Given the description of an element on the screen output the (x, y) to click on. 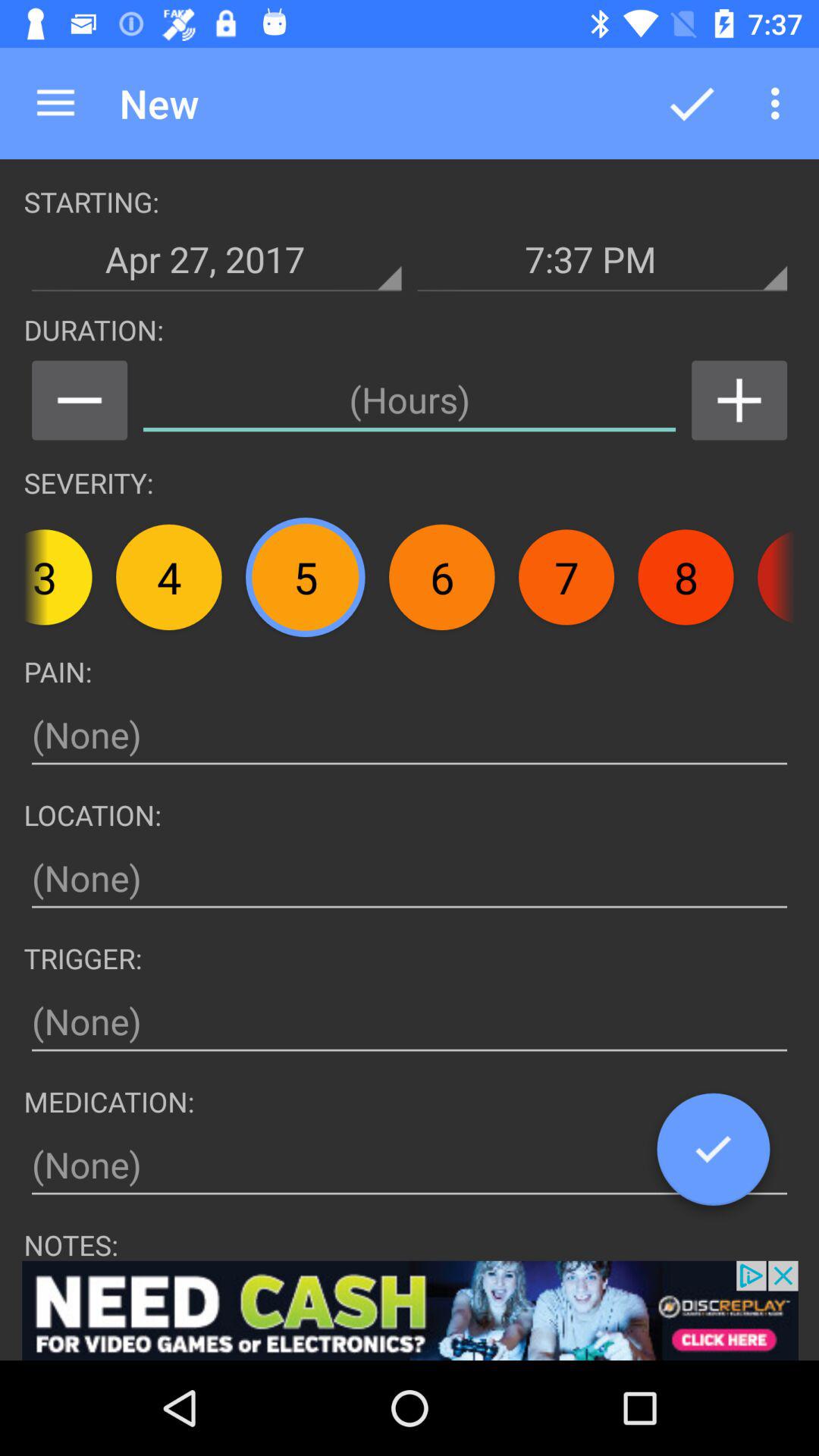
trigger selecting option (409, 1021)
